Given the description of an element on the screen output the (x, y) to click on. 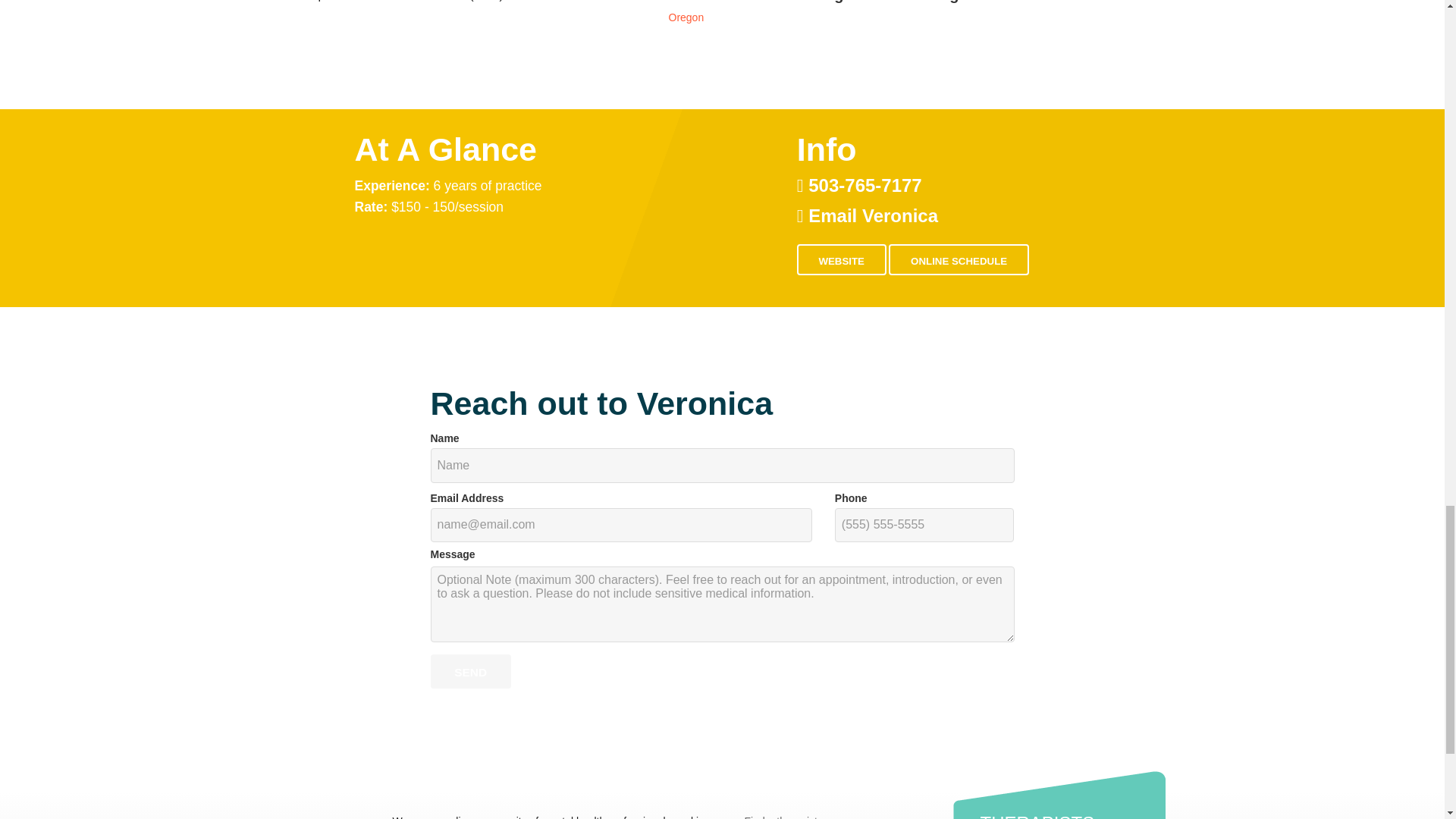
Send (470, 671)
